Given the description of an element on the screen output the (x, y) to click on. 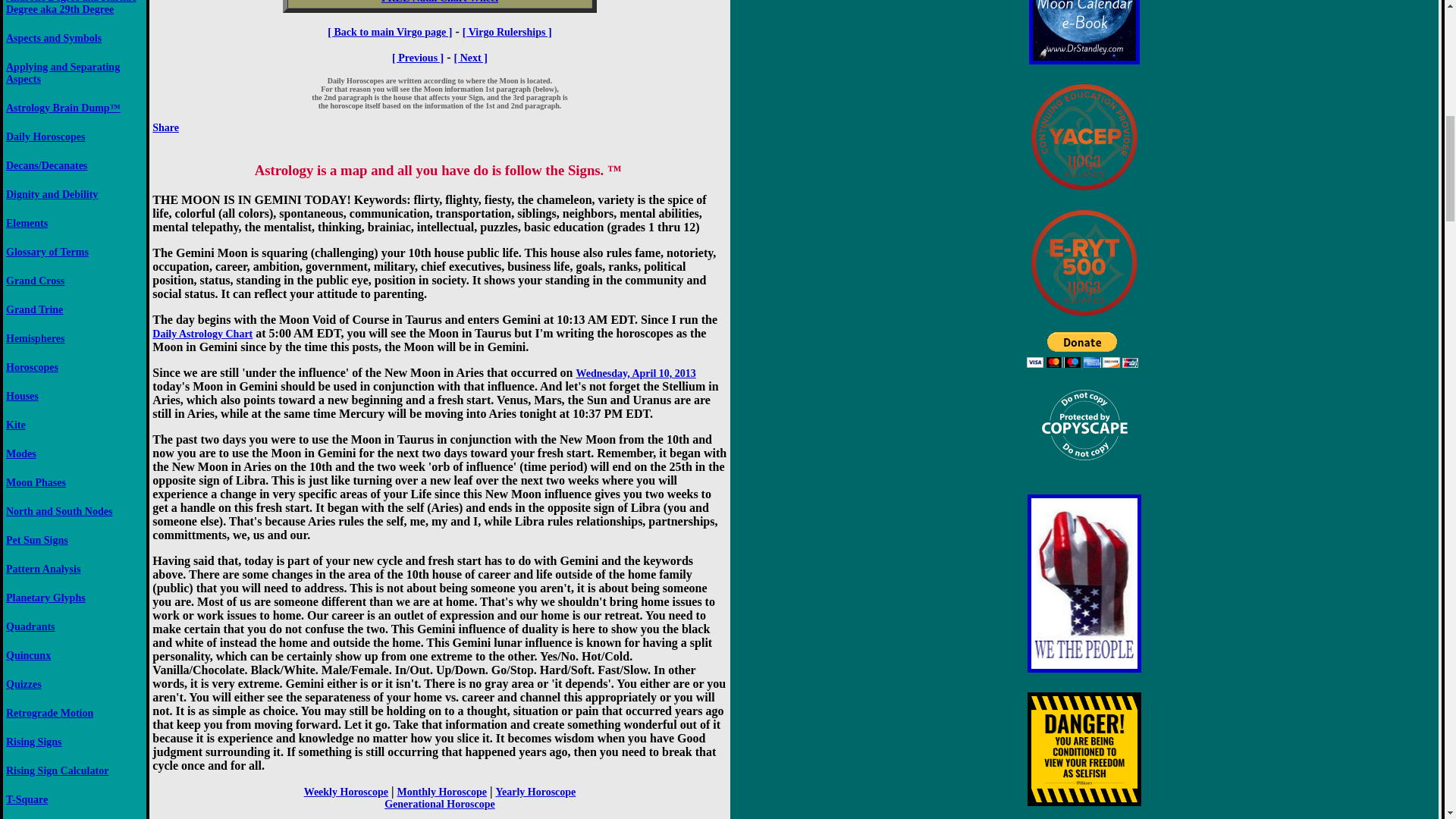
Anaretic Degree aka Karmic Degree aka 29th Degree (70, 7)
Grand Cross (34, 280)
Quadrants (30, 626)
Aspects and Symbols (53, 38)
Hemispheres (35, 337)
Modes (20, 453)
Rising Sign Calculator (56, 770)
Applying and Separating Aspects (62, 73)
Horoscopes (31, 367)
Kite (15, 424)
Retrograde Motion (49, 713)
Houses (22, 396)
Elements (26, 223)
Daily Horoscopes (44, 136)
Glossary of Terms (46, 251)
